Given the description of an element on the screen output the (x, y) to click on. 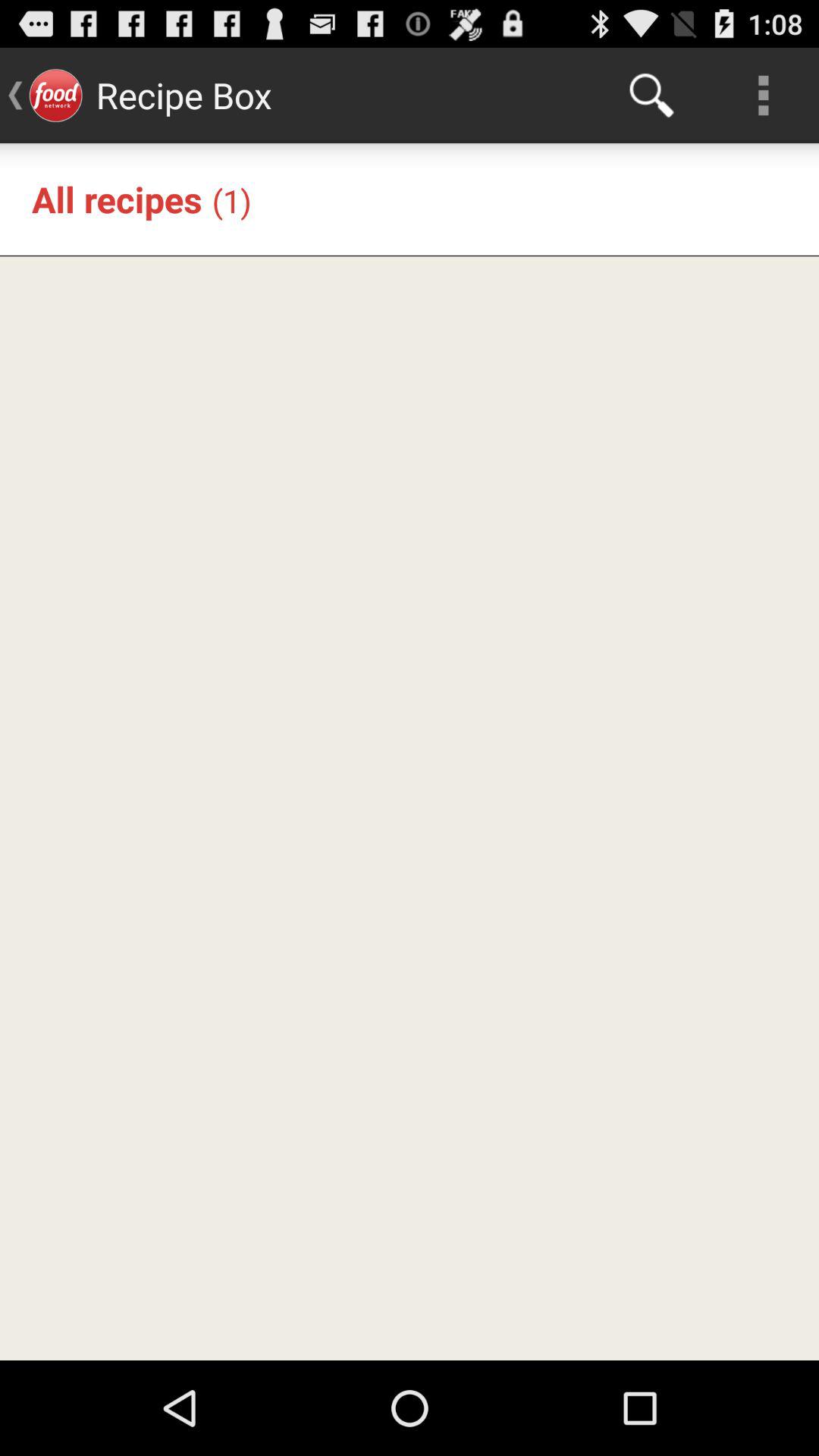
launch app next to (1) item (116, 199)
